Given the description of an element on the screen output the (x, y) to click on. 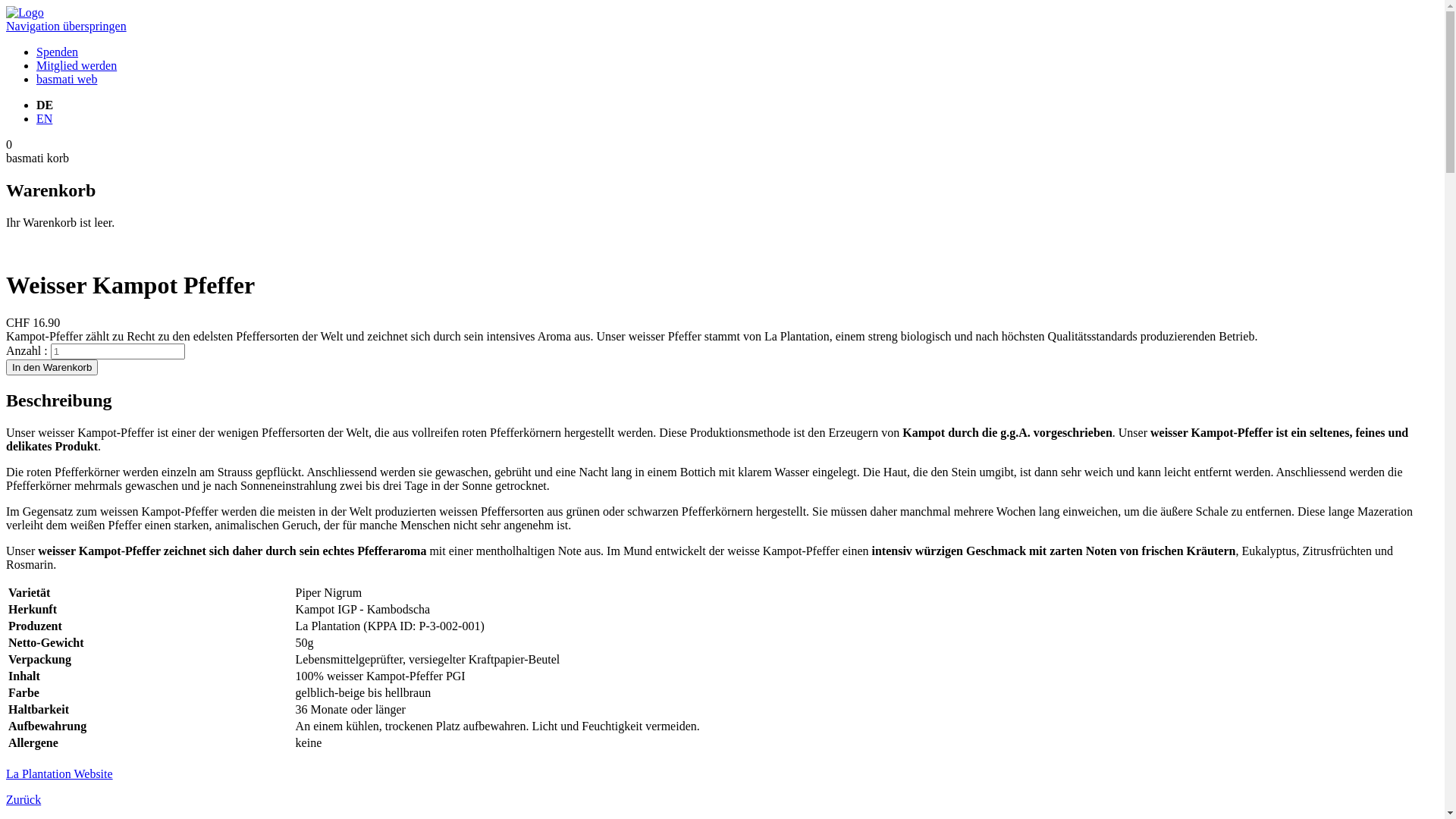
EN Element type: text (44, 118)
basmati web Element type: text (66, 78)
Mitglied werden Element type: text (76, 65)
La Plantation Website Element type: text (59, 773)
Spenden Element type: text (57, 51)
In den Warenkorb Element type: text (51, 367)
